Given the description of an element on the screen output the (x, y) to click on. 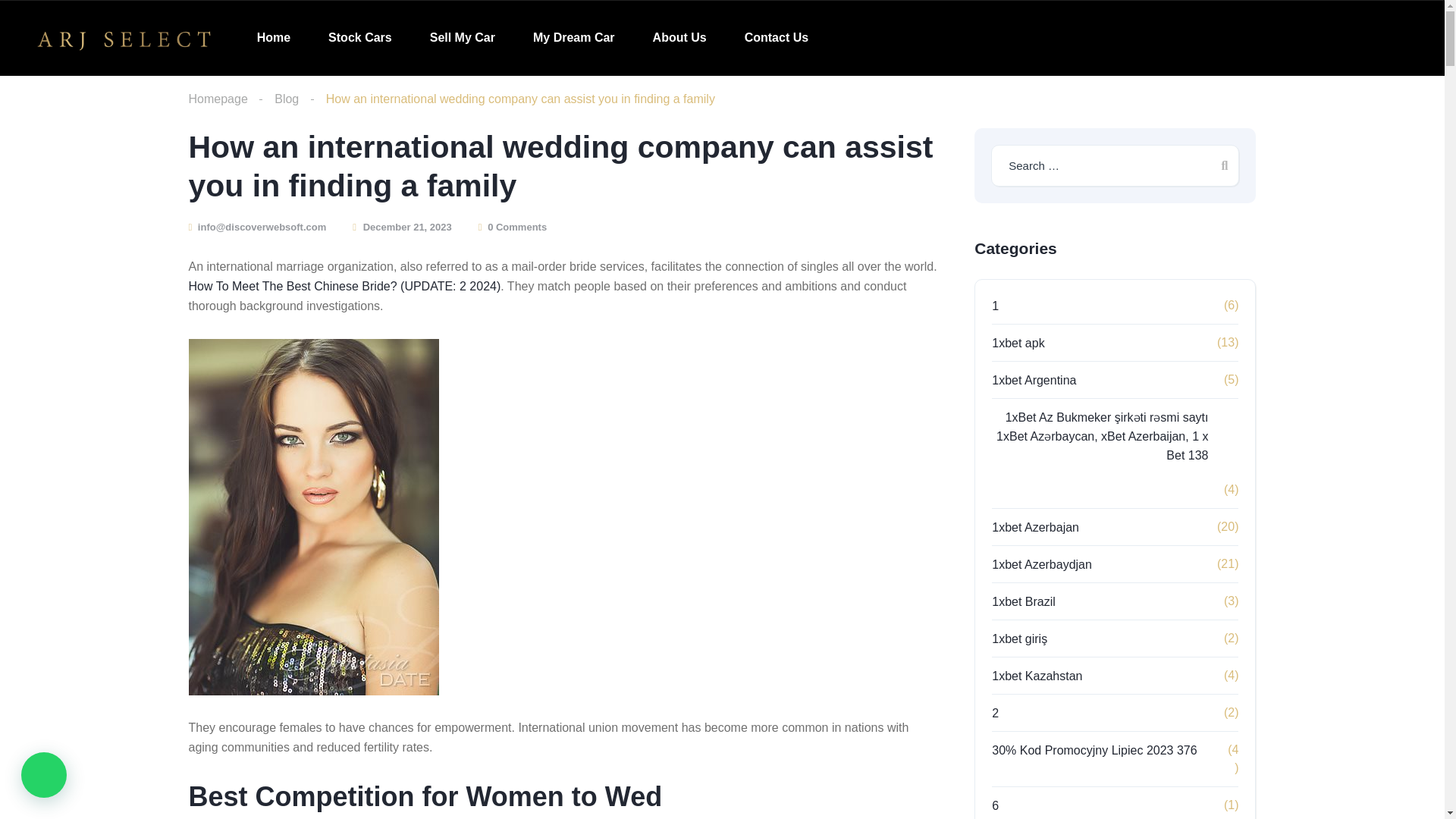
2 (1010, 712)
About Us (679, 36)
ARJ SELECT (124, 38)
Stock Cars (360, 36)
Blog (286, 98)
1xbet Brazil (1038, 601)
About Us (679, 36)
1xbet Azerbajan (1050, 527)
1xbet Argentina (1048, 380)
1xbet apk (1032, 342)
Homepage (217, 98)
Sell My Car (462, 36)
1xbet Kazahstan (1051, 675)
Blog (286, 98)
My Dream Car (573, 36)
